Given the description of an element on the screen output the (x, y) to click on. 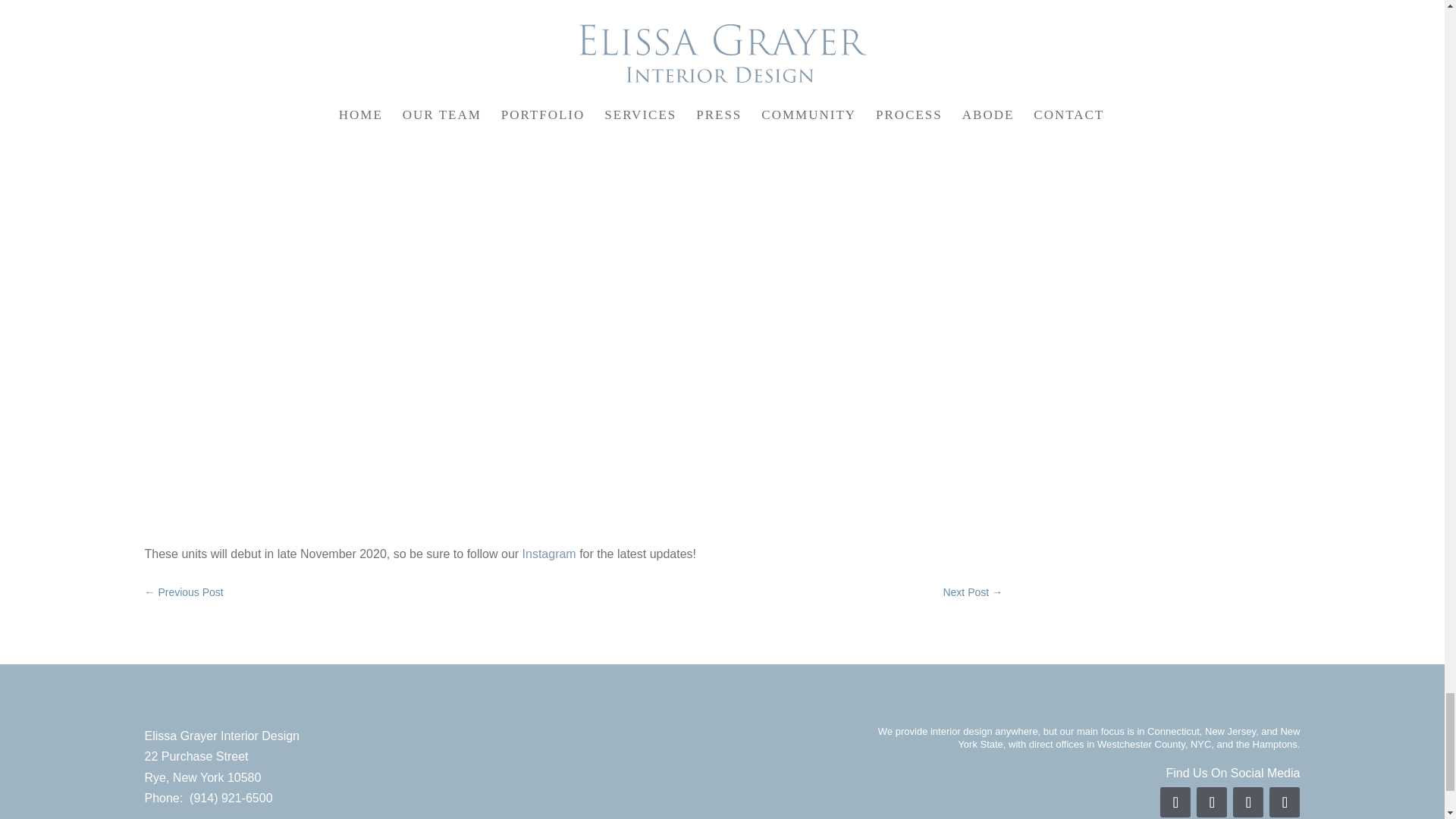
Follow on LinkedIn (1284, 802)
Follow on Facebook (1175, 802)
Instagram (549, 553)
Follow on Instagram (1211, 802)
Follow on Pinterest (1248, 802)
